Given the description of an element on the screen output the (x, y) to click on. 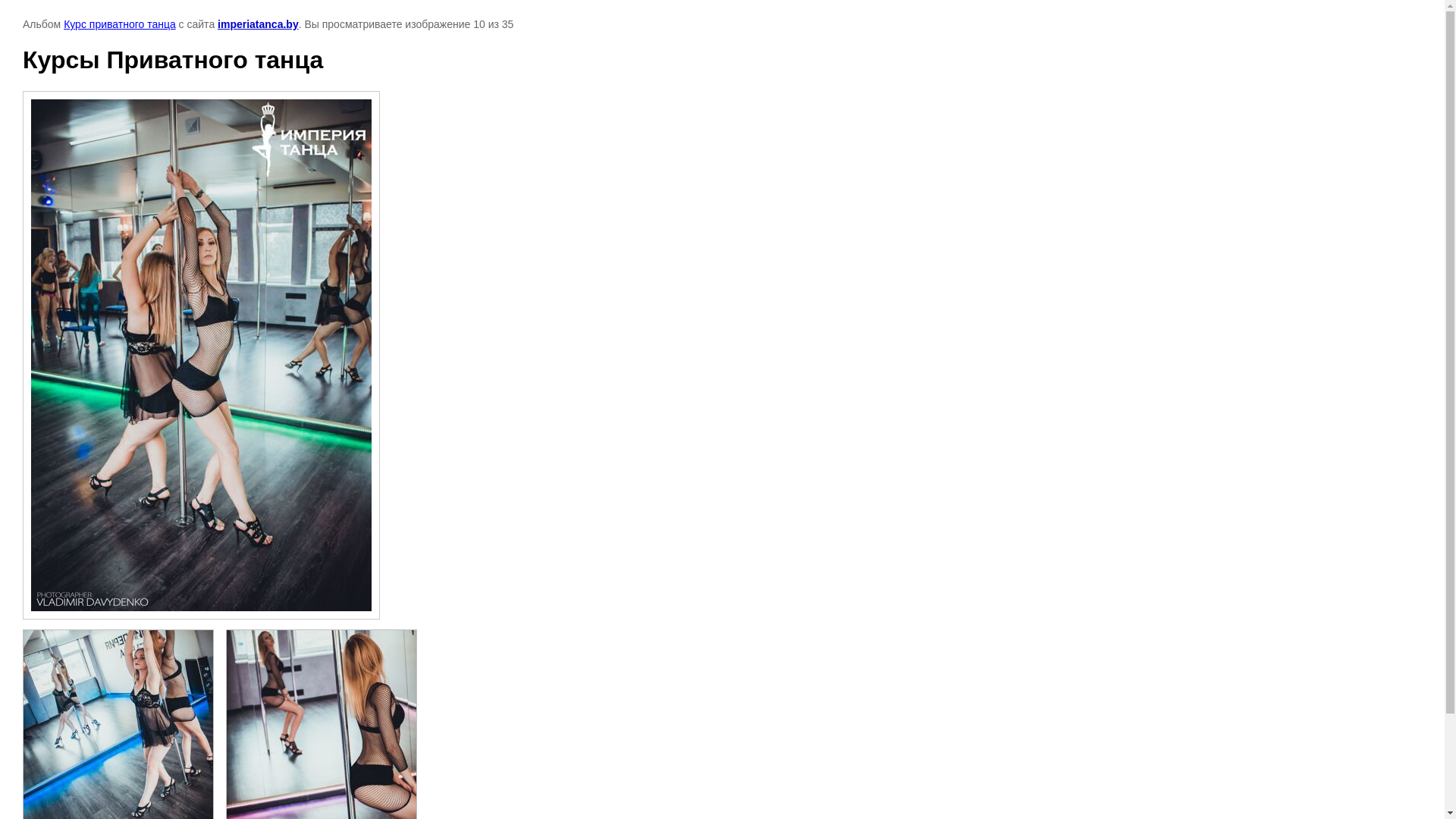
imperiatanca.by Element type: text (257, 24)
